Given the description of an element on the screen output the (x, y) to click on. 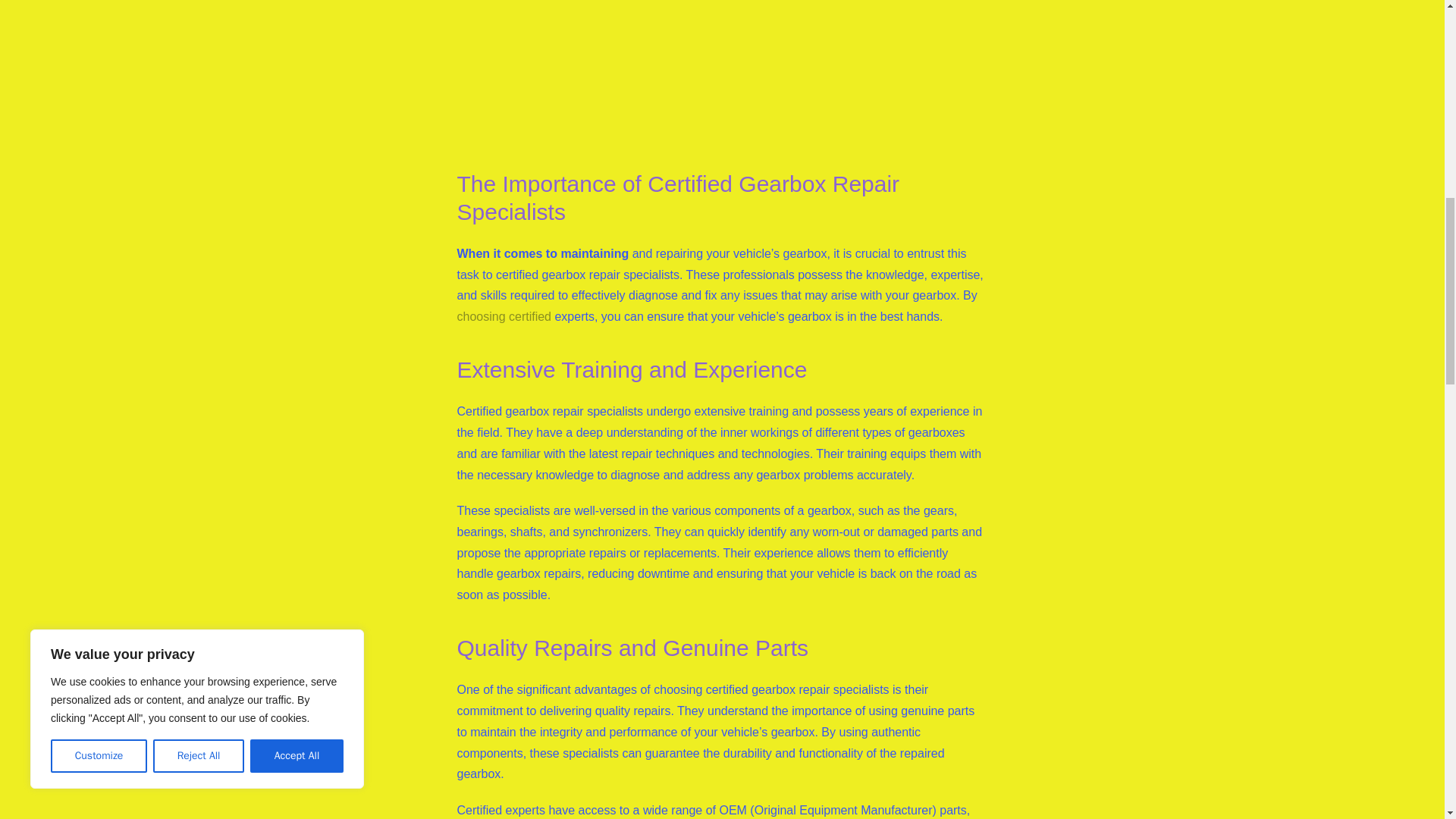
choosing certified (504, 316)
